Given the description of an element on the screen output the (x, y) to click on. 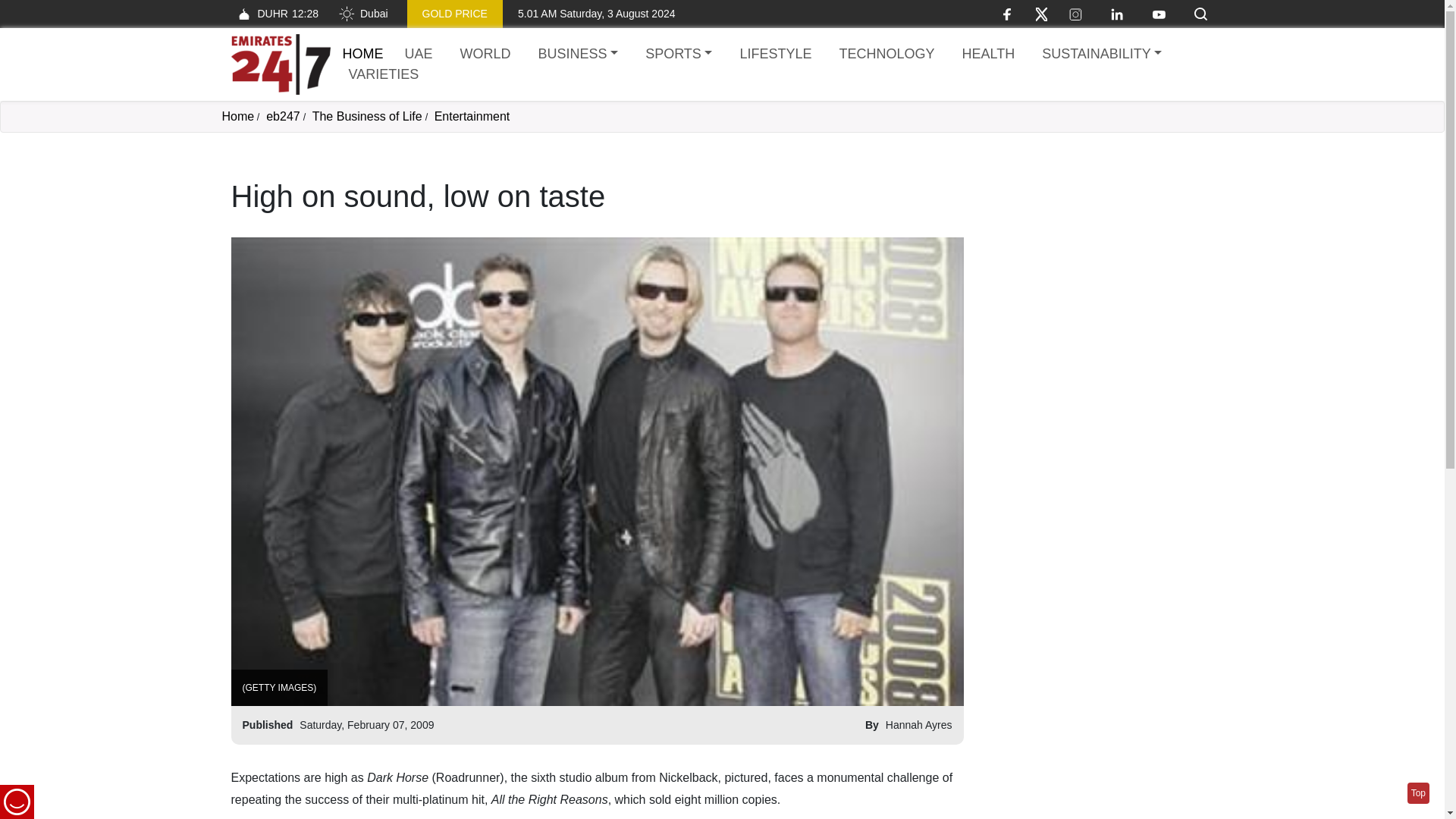
Go to top (1418, 792)
Home (363, 53)
GOLD PRICE (454, 13)
UAE (418, 54)
BUSINESS (578, 54)
TECHNOLOGY (886, 54)
SPORTS (678, 54)
Dubai (362, 13)
The Business of Life (367, 115)
WORLD (485, 54)
HEALTH (987, 54)
Home (280, 64)
VARIETIES (383, 74)
Entertainment (472, 115)
SUSTAINABILITY (1101, 54)
